Given the description of an element on the screen output the (x, y) to click on. 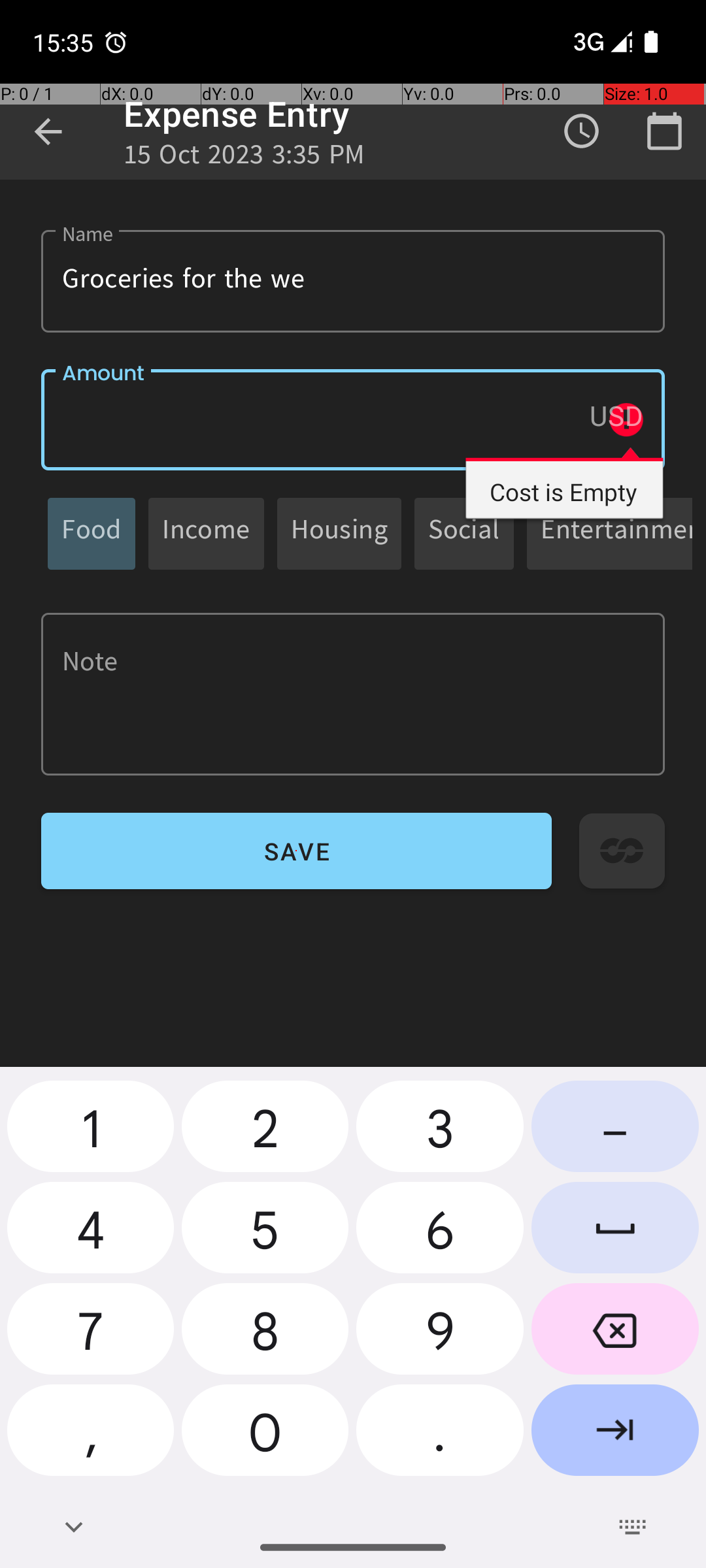
15 Oct 2023 3:35 PM Element type: android.widget.TextView (244, 157)
Groceries for the we Element type: android.widget.EditText (352, 280)
Cost is Empty Element type: android.widget.TextView (564, 481)
